Given the description of an element on the screen output the (x, y) to click on. 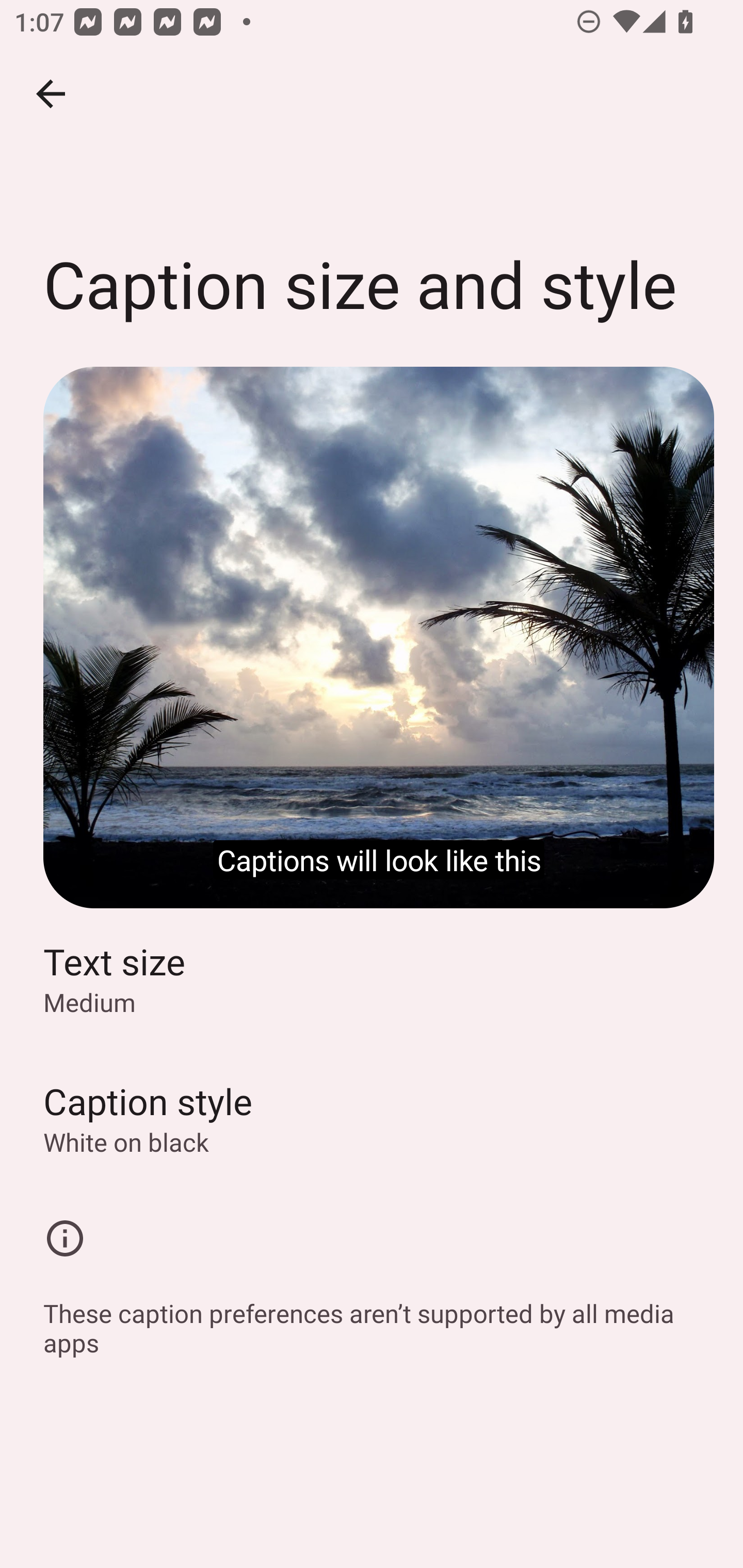
Navigate up (50, 93)
Text size Medium (371, 977)
Caption style White on black (371, 1117)
